Given the description of an element on the screen output the (x, y) to click on. 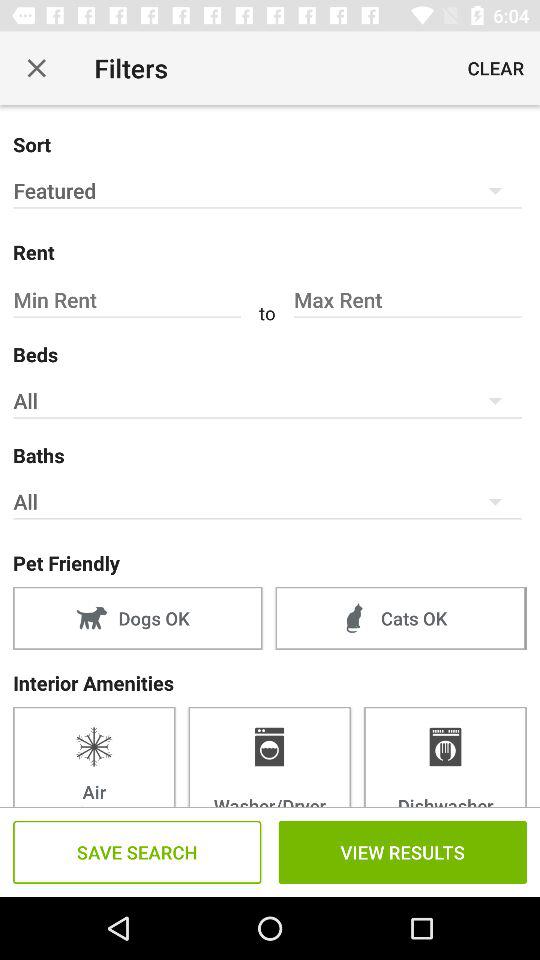
select the dogs ok (137, 617)
